Given the description of an element on the screen output the (x, y) to click on. 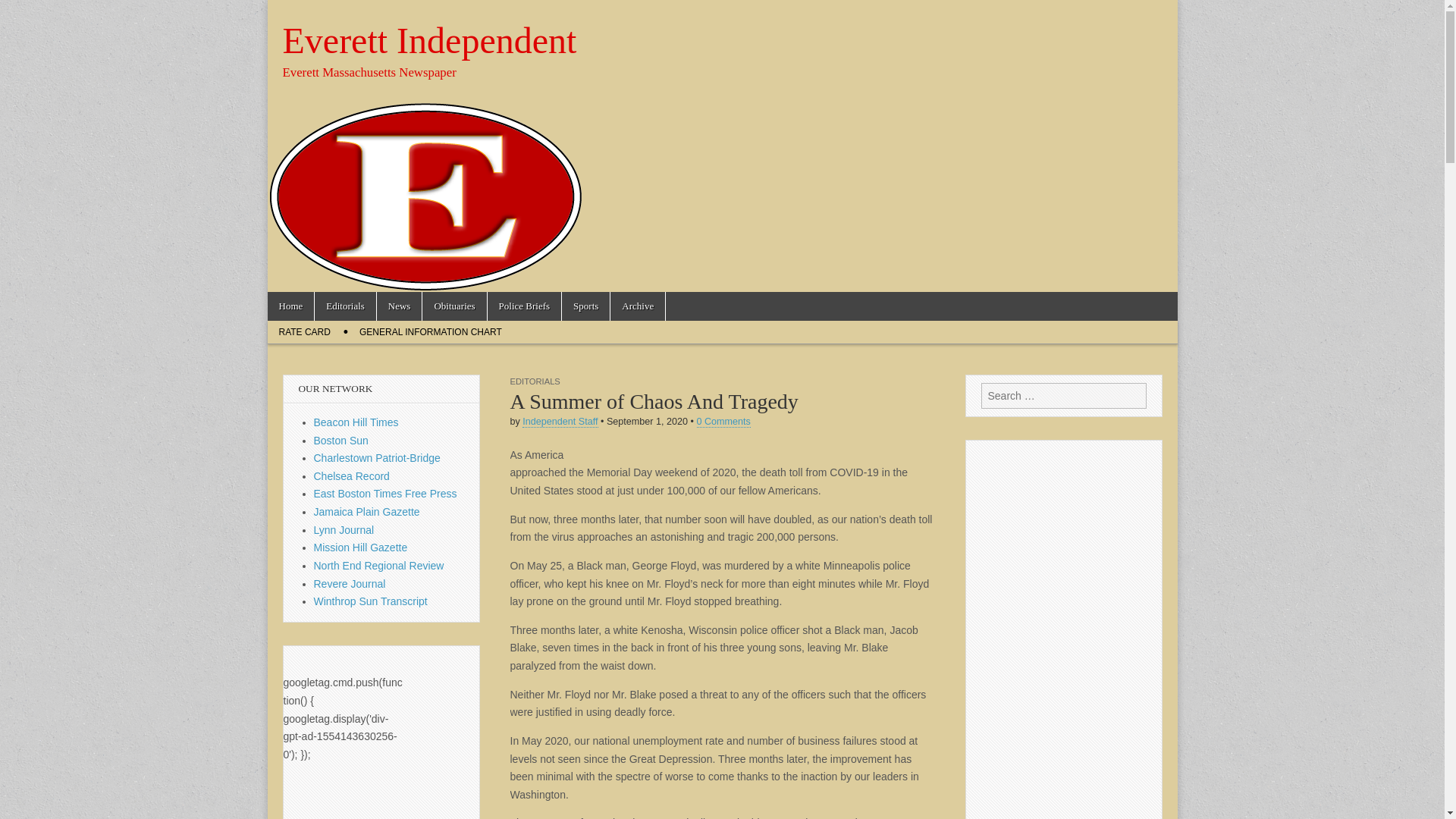
EDITORIALS (534, 380)
News (399, 306)
GENERAL INFORMATION CHART (430, 332)
Posts by Independent Staff (559, 421)
Home (290, 306)
North End Regional Review (379, 565)
0 Comments (722, 421)
Police Briefs (524, 306)
Sports (586, 306)
Editorials (344, 306)
Obituaries (454, 306)
Boston Sun (341, 440)
Everett Independent (429, 40)
